Given the description of an element on the screen output the (x, y) to click on. 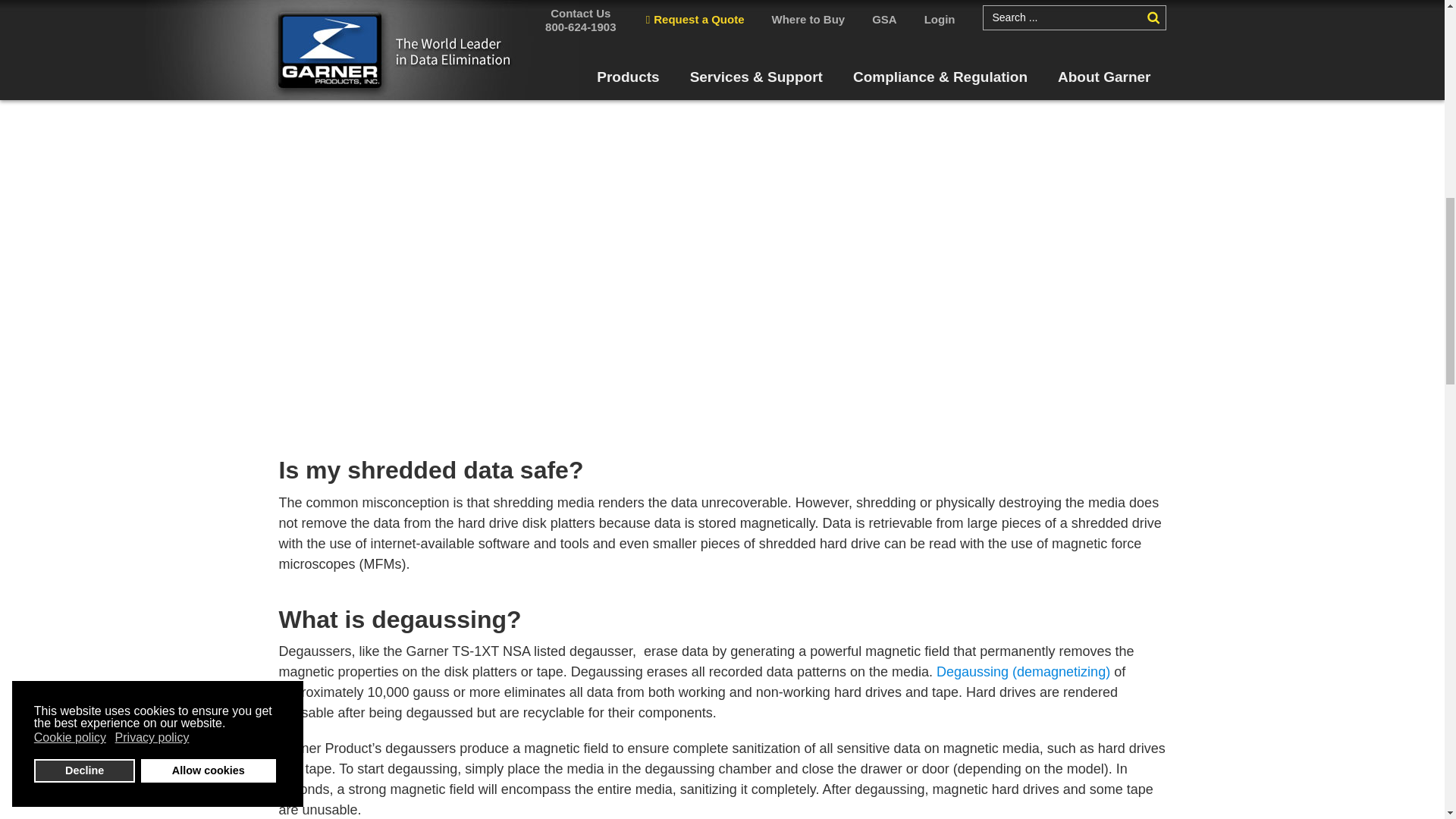
YouTube video player (721, 264)
